Given the description of an element on the screen output the (x, y) to click on. 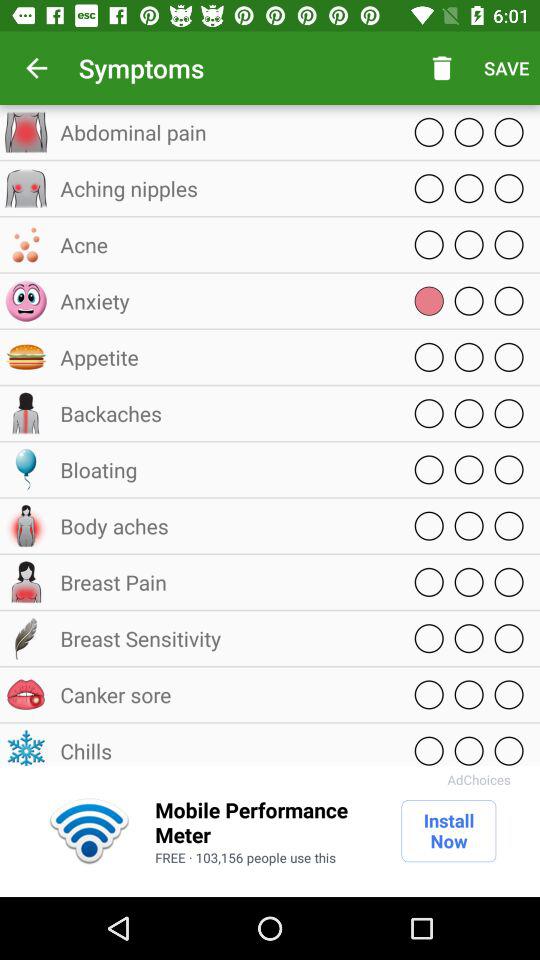
tap the anxiety icon (225, 300)
